Given the description of an element on the screen output the (x, y) to click on. 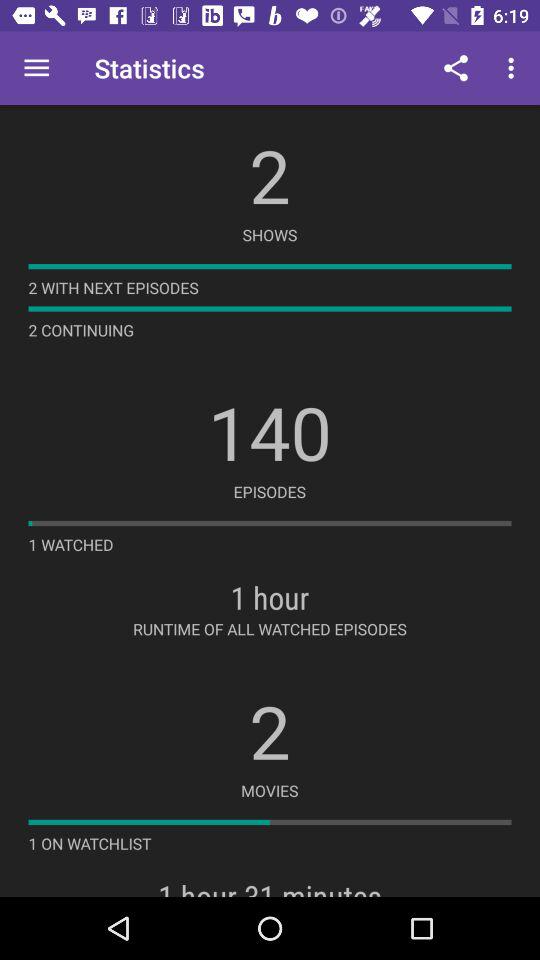
turn on 1 watched icon (70, 544)
